Given the description of an element on the screen output the (x, y) to click on. 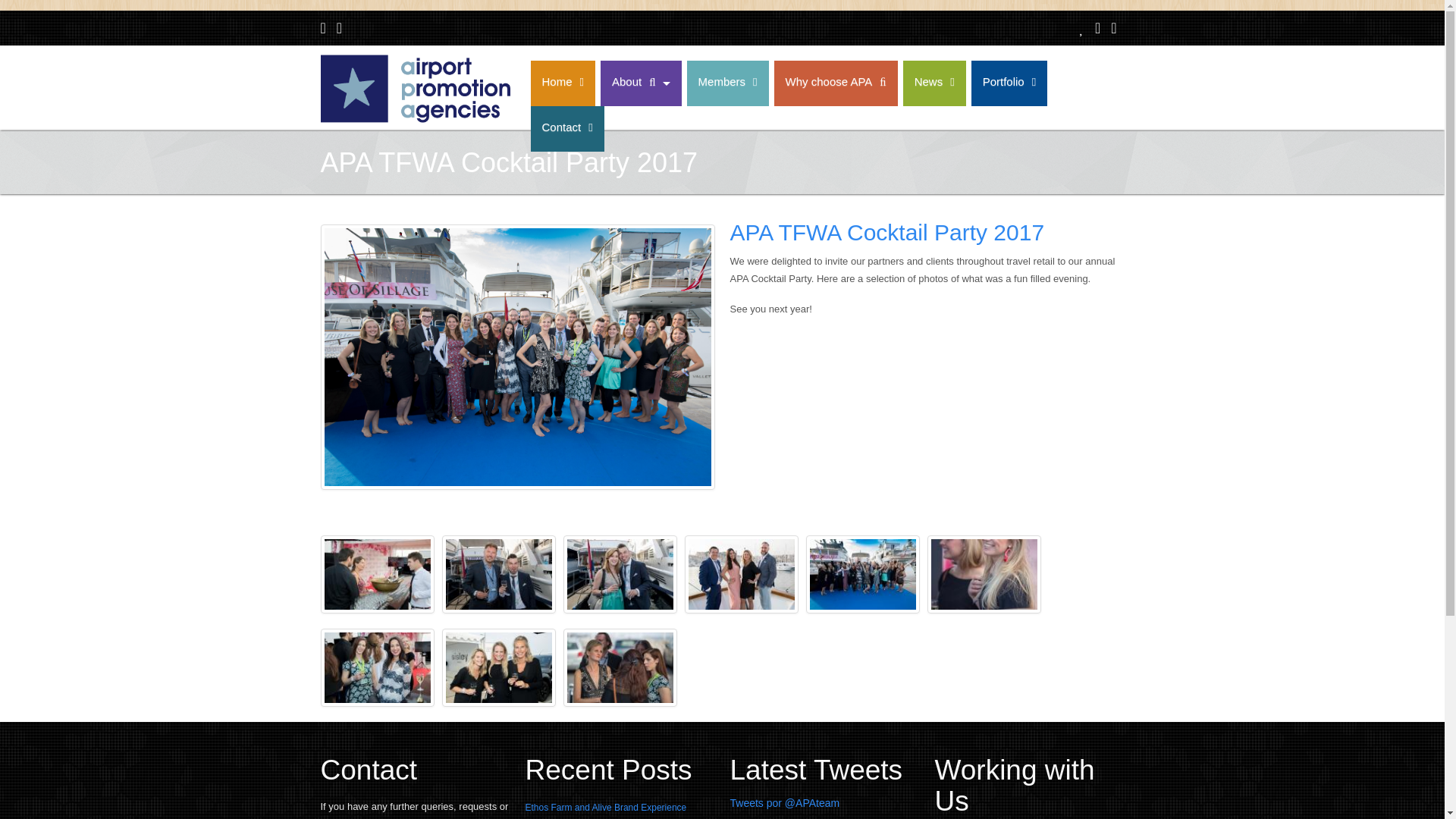
News (934, 83)
Home (563, 83)
Members (727, 83)
APA TFWA Cocktail Party 2017 (886, 232)
About (640, 83)
Contact (567, 128)
Why choose APA (836, 83)
Home (414, 120)
Portfolio (1009, 83)
